Given the description of an element on the screen output the (x, y) to click on. 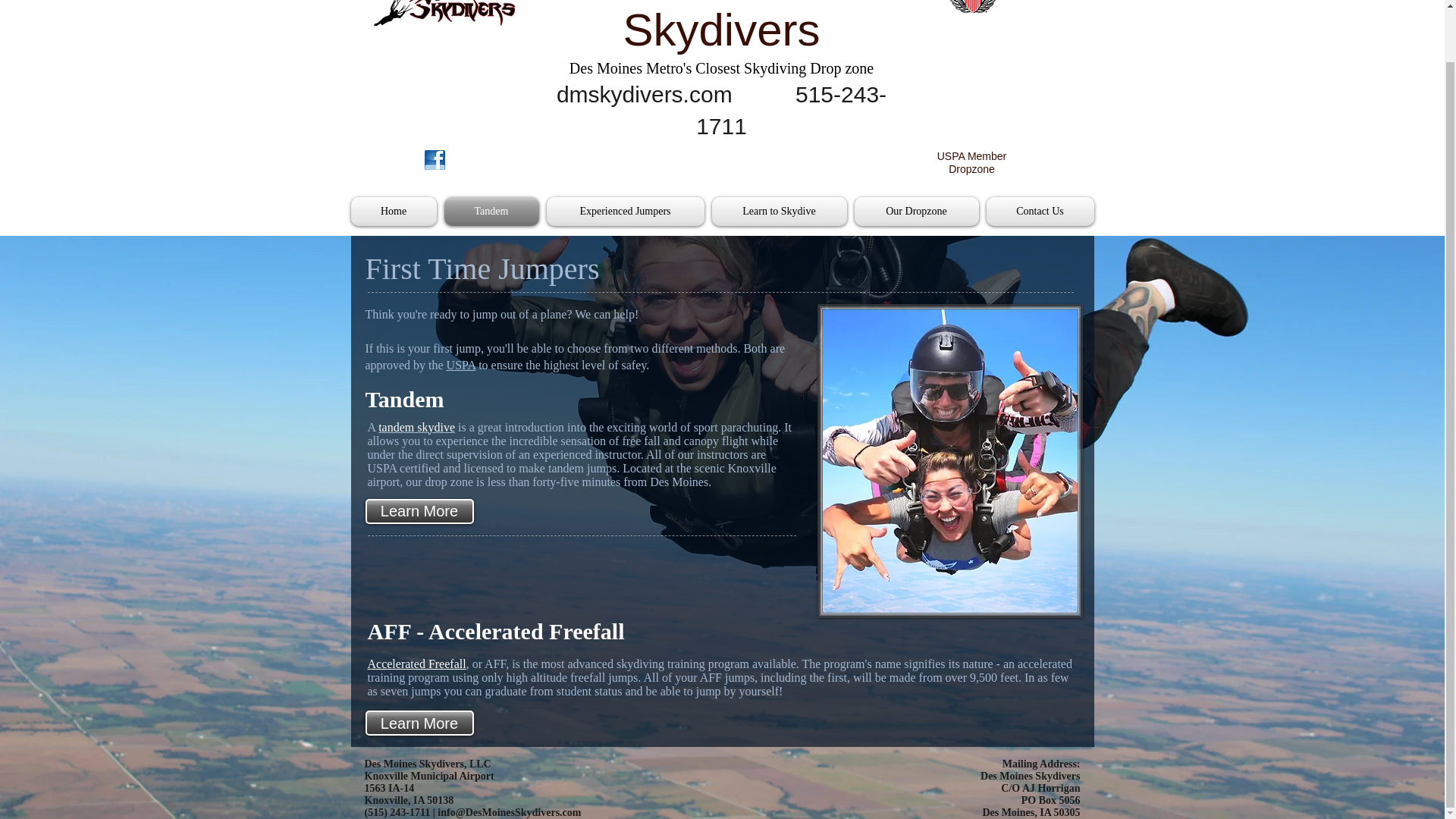
Facebook Like (486, 176)
Learn More (419, 722)
Tandem (490, 211)
USPA (461, 364)
tandem skydive (416, 427)
Learn More (419, 511)
Home (394, 211)
Contact Us (1038, 211)
Accelerated Freefall (415, 663)
Experienced Jumpers (625, 211)
